Given the description of an element on the screen output the (x, y) to click on. 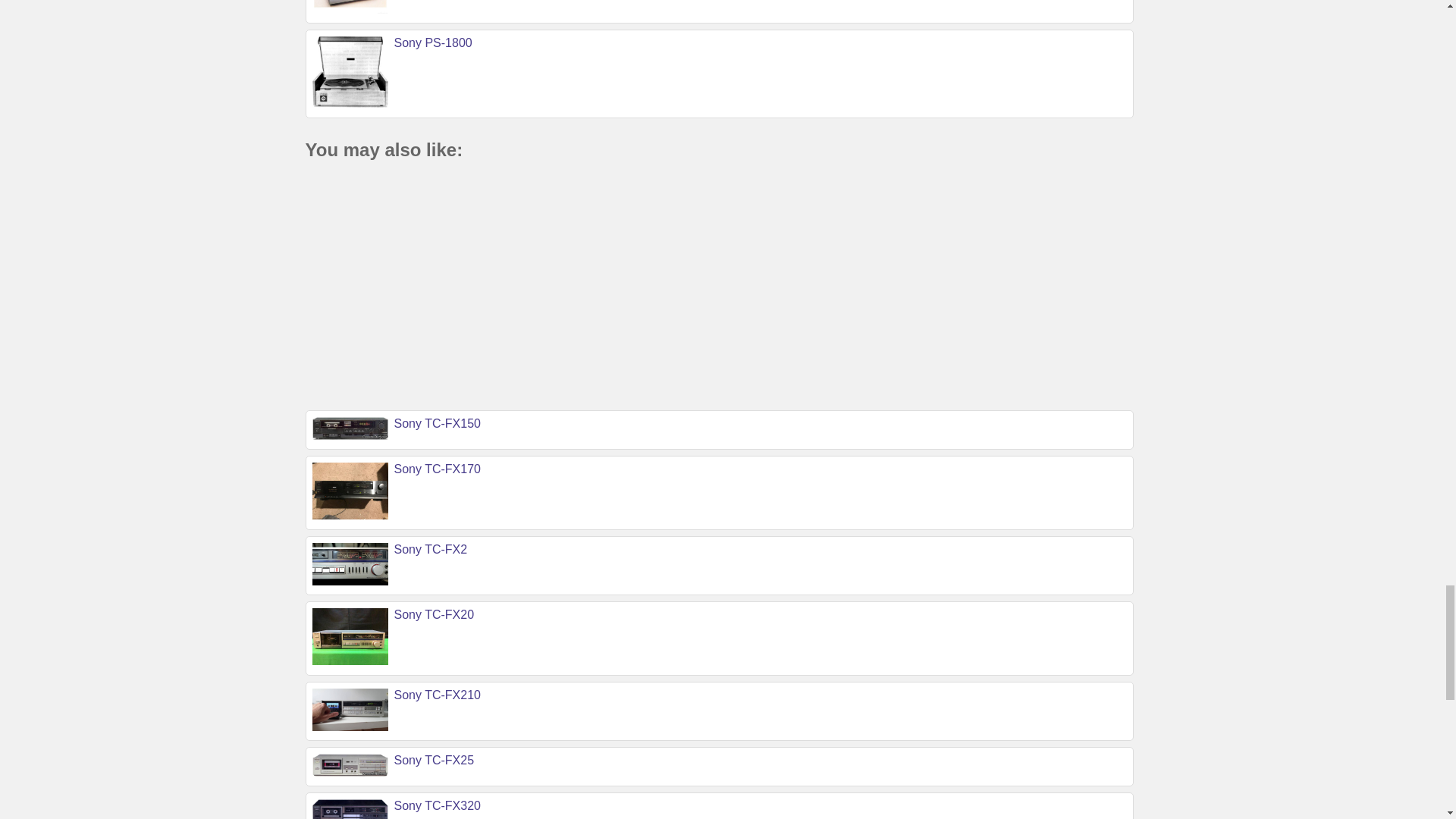
Sony TC-FX170 (437, 468)
Sony TC-FX2 (430, 549)
Sony TC-FX320 (437, 805)
Sony PS-1800 (432, 42)
Sony TC-FX20 (434, 614)
Sony TC-FX150 (437, 422)
Sony TC-FX25 (434, 759)
Sony TC-FX210 (437, 694)
